Given the description of an element on the screen output the (x, y) to click on. 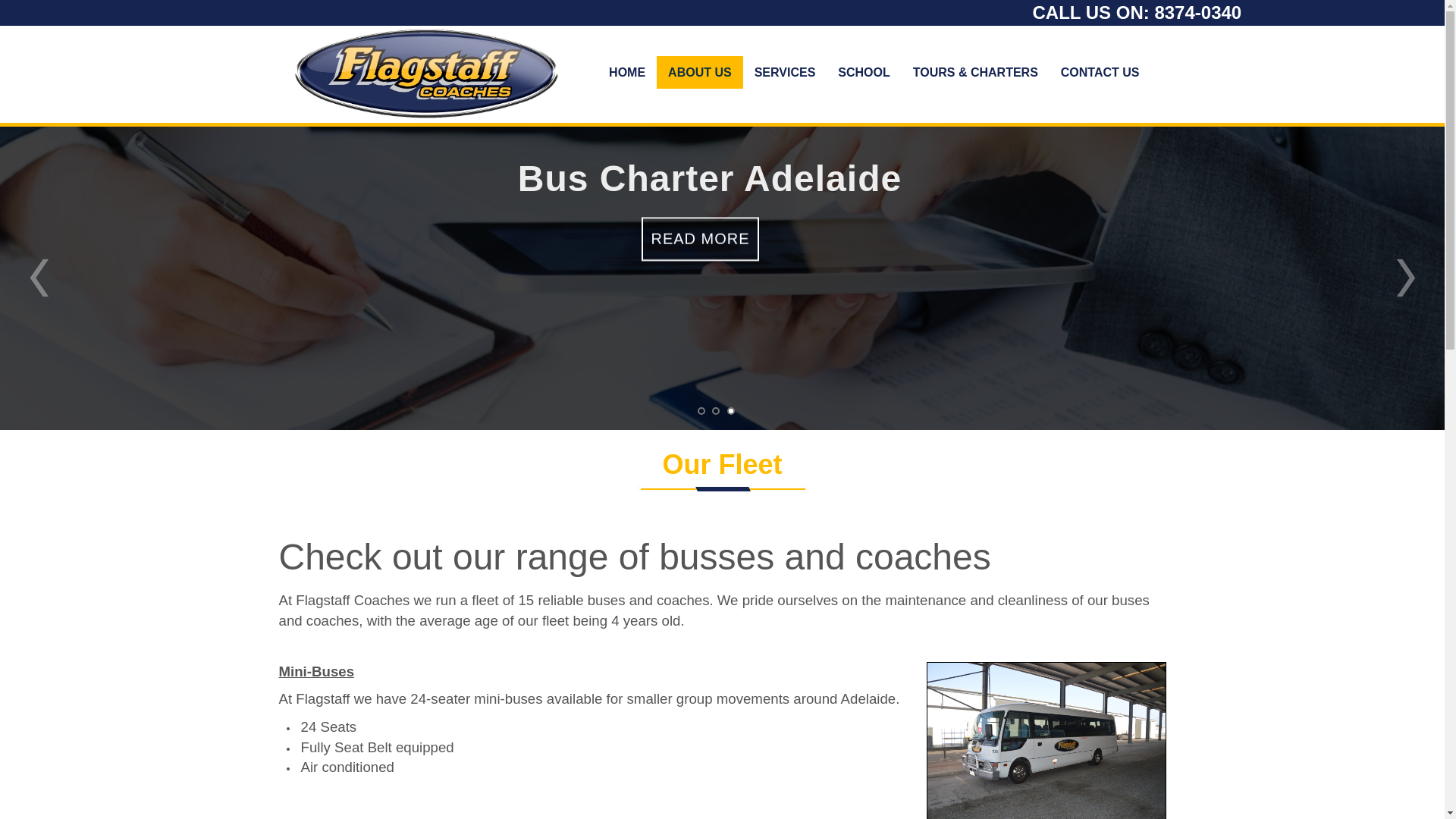
HOME Element type: text (626, 72)
TOURS & CHARTERS Element type: text (975, 72)
CALL US ON: 8374-0340 Element type: text (1137, 12)
READ MORE Element type: text (699, 246)
SERVICES Element type: text (785, 72)
SCHOOL Element type: text (863, 72)
CONTACT US Element type: text (1100, 72)
ABOUT US Element type: text (699, 72)
